Given the description of an element on the screen output the (x, y) to click on. 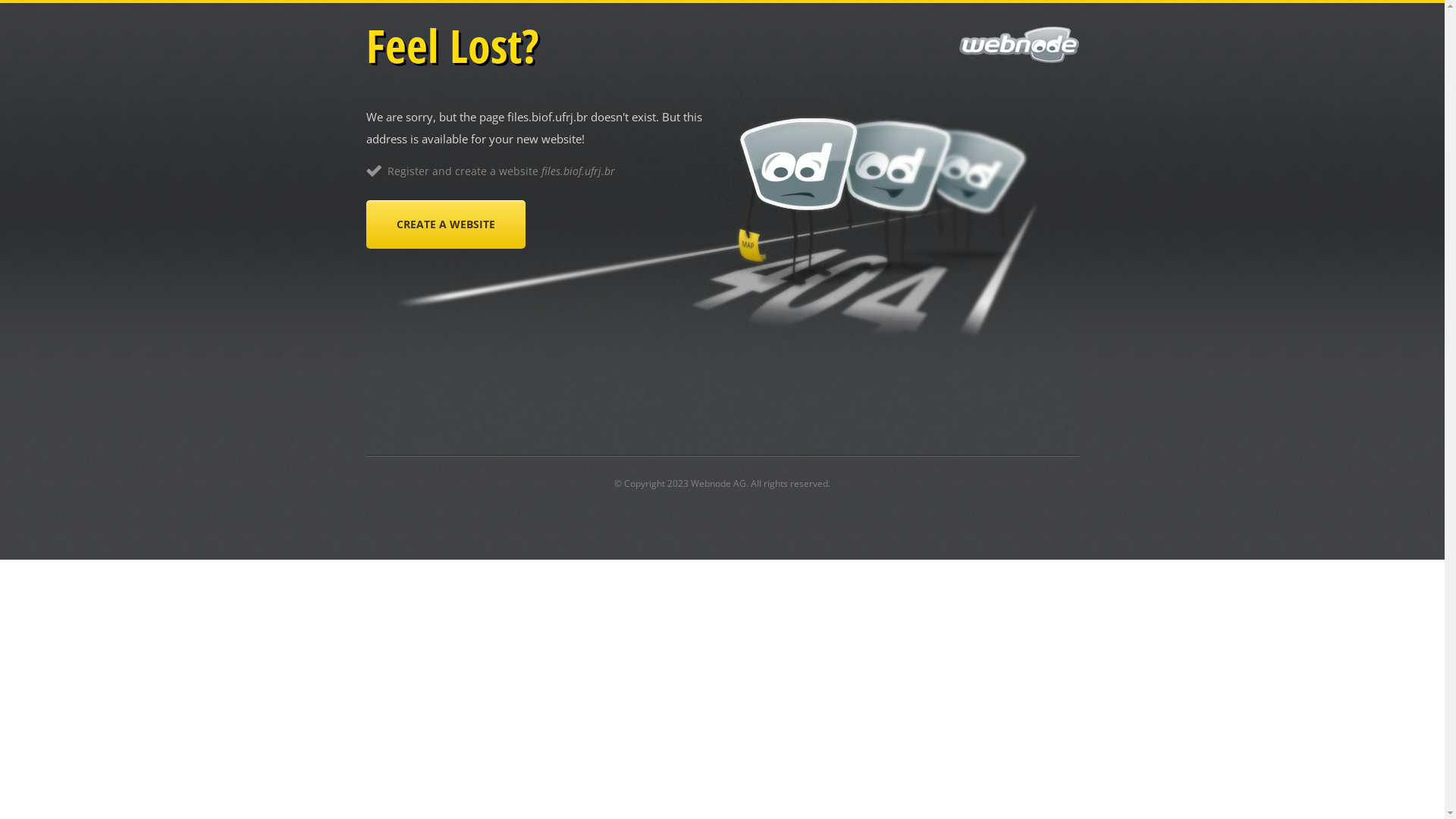
CREATE A WEBSITE Element type: text (444, 224)
Webnode AG Element type: text (718, 482)
